Given the description of an element on the screen output the (x, y) to click on. 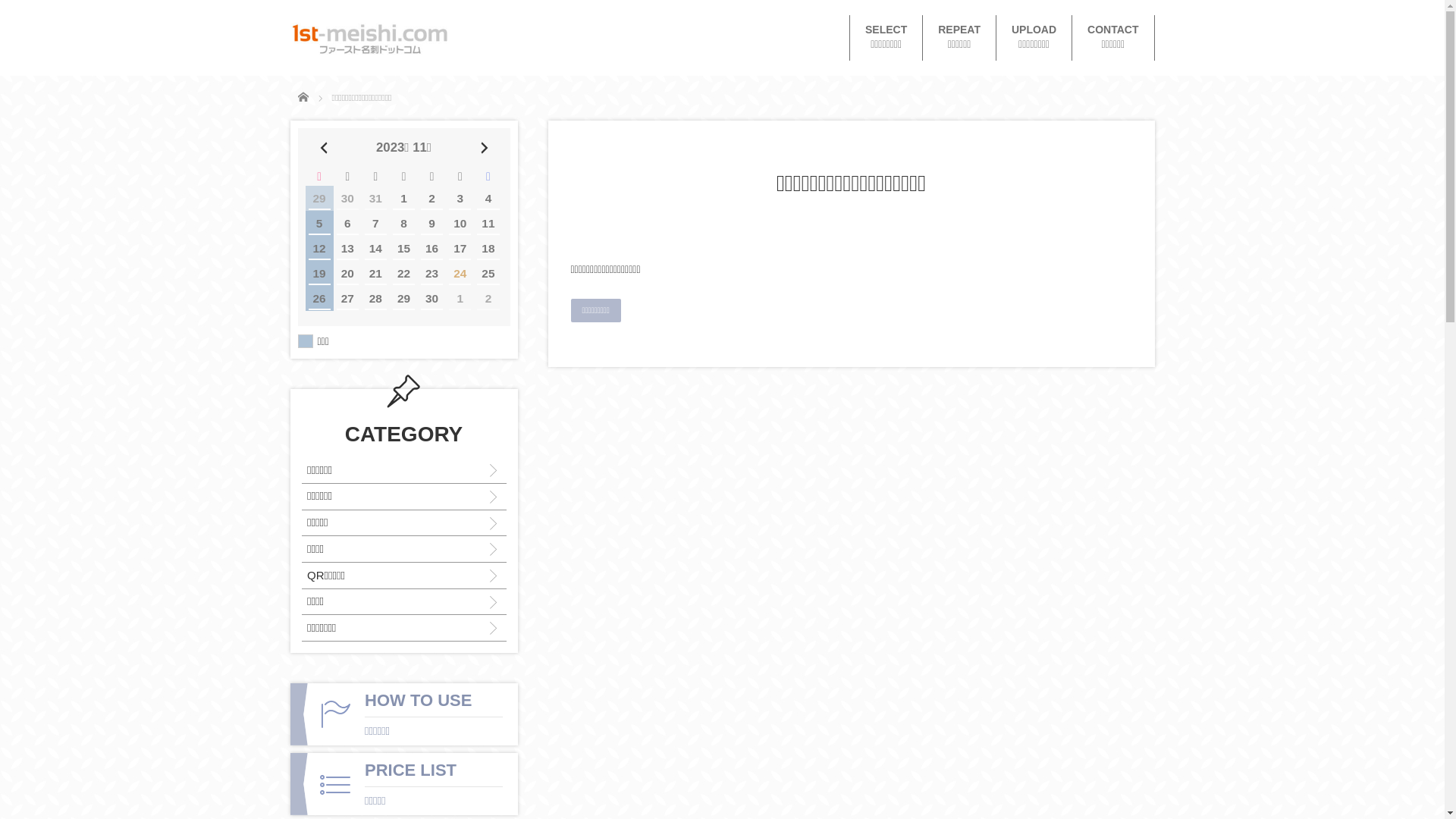
1st-meishi.com Element type: hover (368, 39)
